Given the description of an element on the screen output the (x, y) to click on. 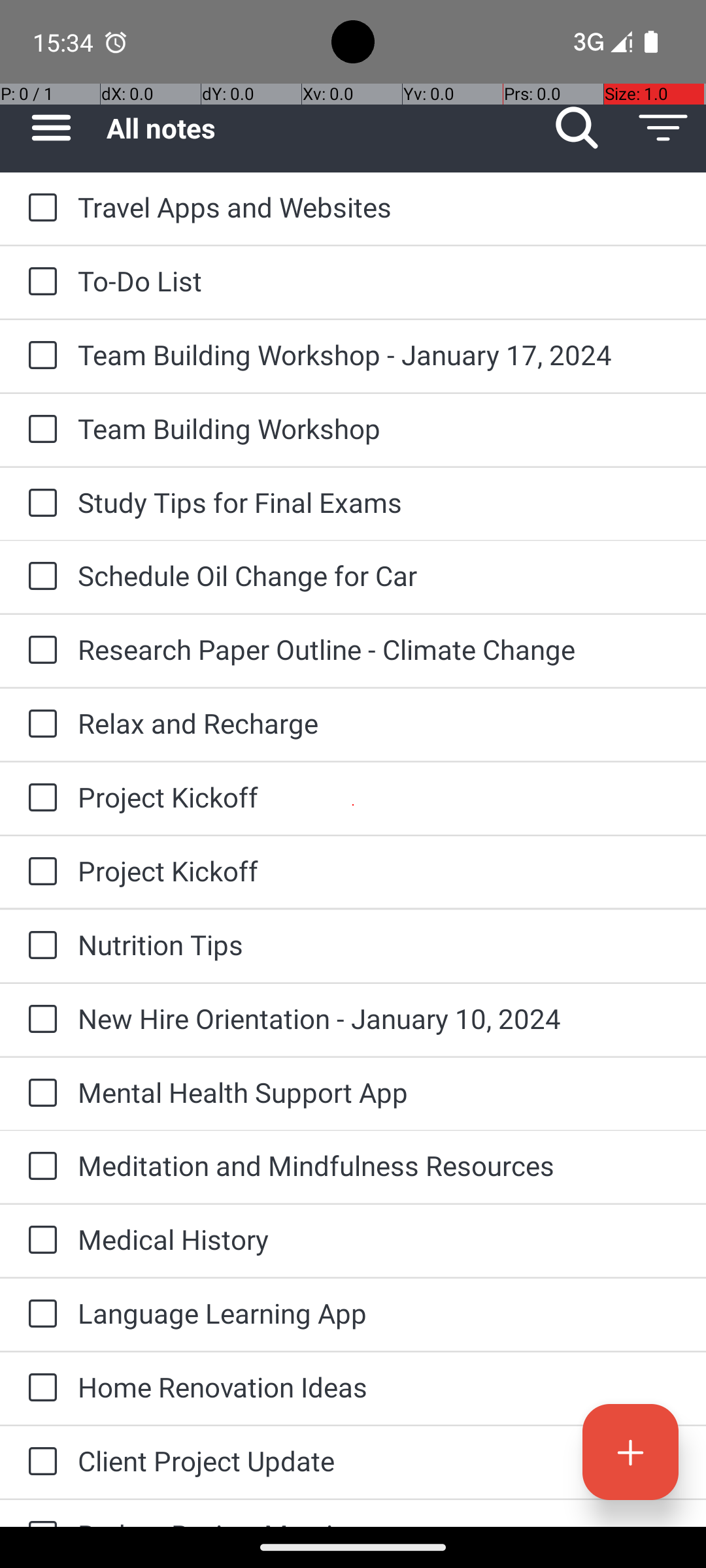
to-do: Travel Apps and Websites Element type: android.widget.CheckBox (38, 208)
Travel Apps and Websites Element type: android.widget.TextView (378, 206)
to-do: To-Do List Element type: android.widget.CheckBox (38, 282)
To-Do List Element type: android.widget.TextView (378, 280)
to-do: Team Building Workshop - January 17, 2024 Element type: android.widget.CheckBox (38, 356)
Team Building Workshop - January 17, 2024 Element type: android.widget.TextView (378, 354)
to-do: Team Building Workshop Element type: android.widget.CheckBox (38, 429)
Team Building Workshop Element type: android.widget.TextView (378, 427)
to-do: Study Tips for Final Exams Element type: android.widget.CheckBox (38, 503)
Study Tips for Final Exams Element type: android.widget.TextView (378, 501)
to-do: Schedule Oil Change for Car Element type: android.widget.CheckBox (38, 576)
Schedule Oil Change for Car Element type: android.widget.TextView (378, 574)
to-do: Relax and Recharge Element type: android.widget.CheckBox (38, 724)
Relax and Recharge Element type: android.widget.TextView (378, 722)
to-do: Mental Health Support App Element type: android.widget.CheckBox (38, 1093)
Mental Health Support App Element type: android.widget.TextView (378, 1091)
to-do: Medical History Element type: android.widget.CheckBox (38, 1240)
to-do: Language Learning App Element type: android.widget.CheckBox (38, 1314)
to-do: Home Renovation Ideas Element type: android.widget.CheckBox (38, 1388)
to-do: Client Project Update Element type: android.widget.CheckBox (38, 1462)
Client Project Update Element type: android.widget.TextView (378, 1460)
